Given the description of an element on the screen output the (x, y) to click on. 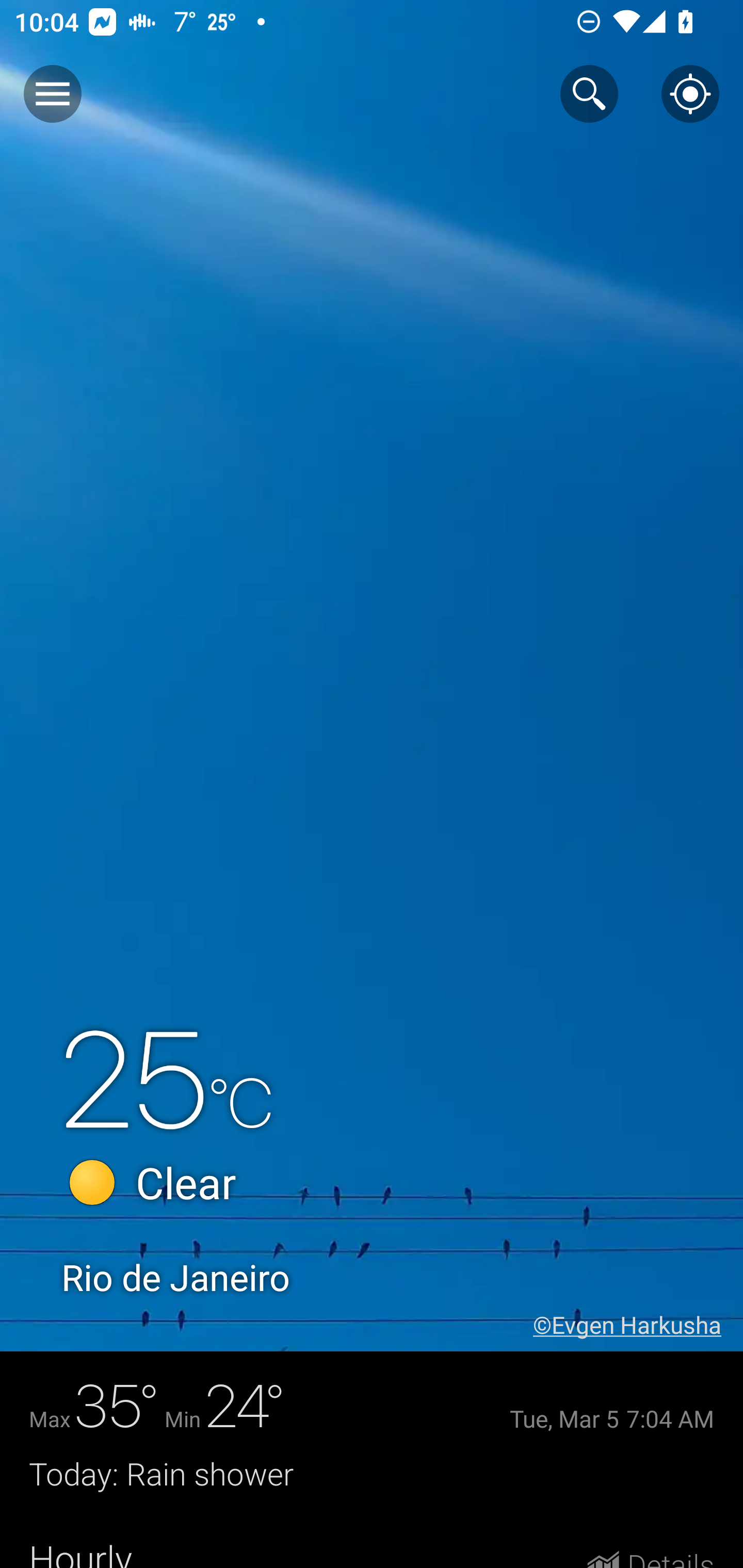
©Evgen Harkusha (637, 1324)
